Given the description of an element on the screen output the (x, y) to click on. 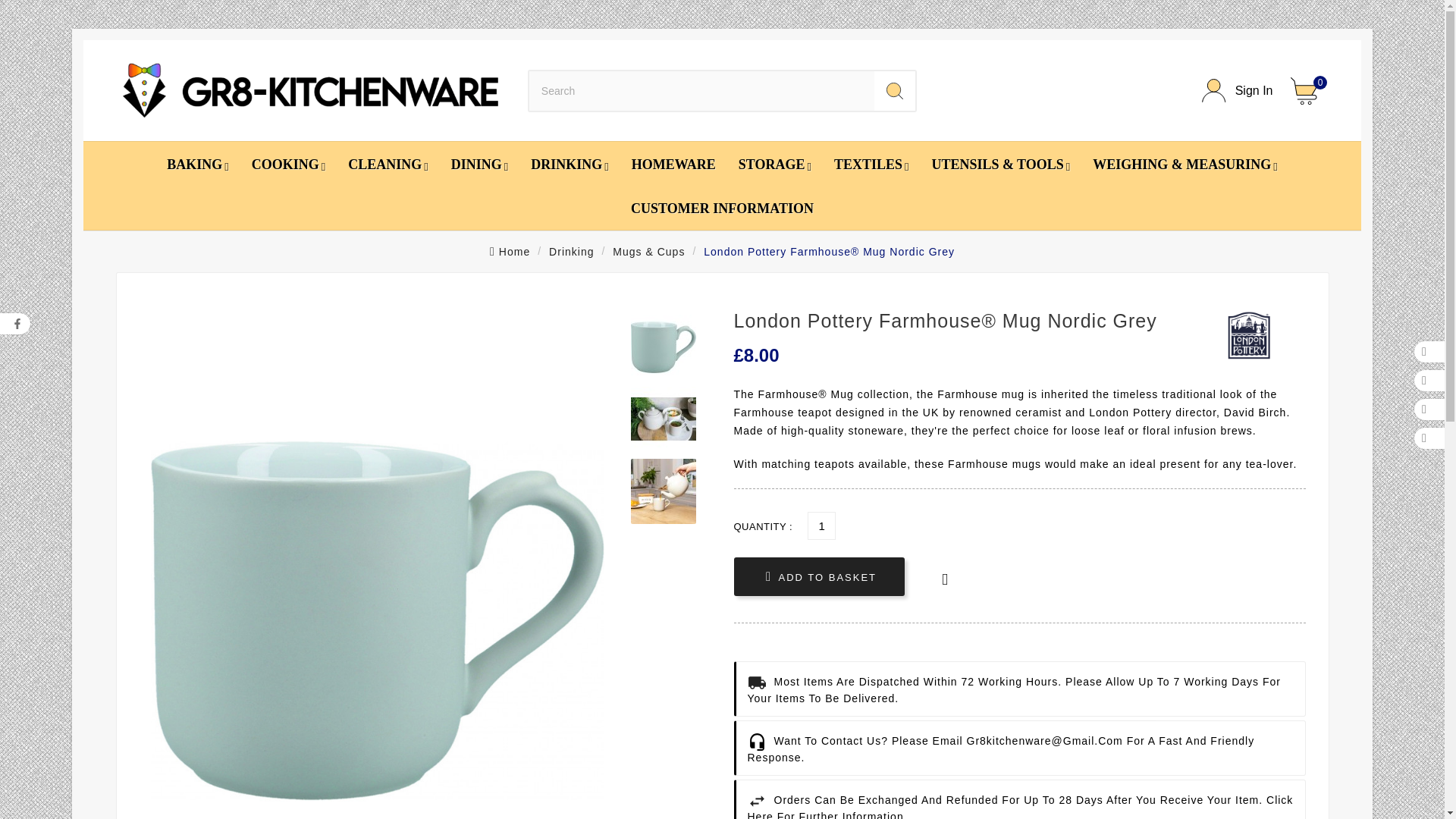
1 (821, 525)
DRINKING (569, 163)
BAKING (197, 163)
Home (509, 250)
TEXTILES (871, 163)
Basket (1308, 90)
CUSTOMER INFORMATION (722, 207)
London Pottery (1249, 335)
Drinking (571, 250)
HOMEWARE (673, 163)
Sign In (1237, 90)
STORAGE (774, 163)
COOKING (288, 163)
Add To Wishlist (944, 578)
DINING (479, 163)
